Given the description of an element on the screen output the (x, y) to click on. 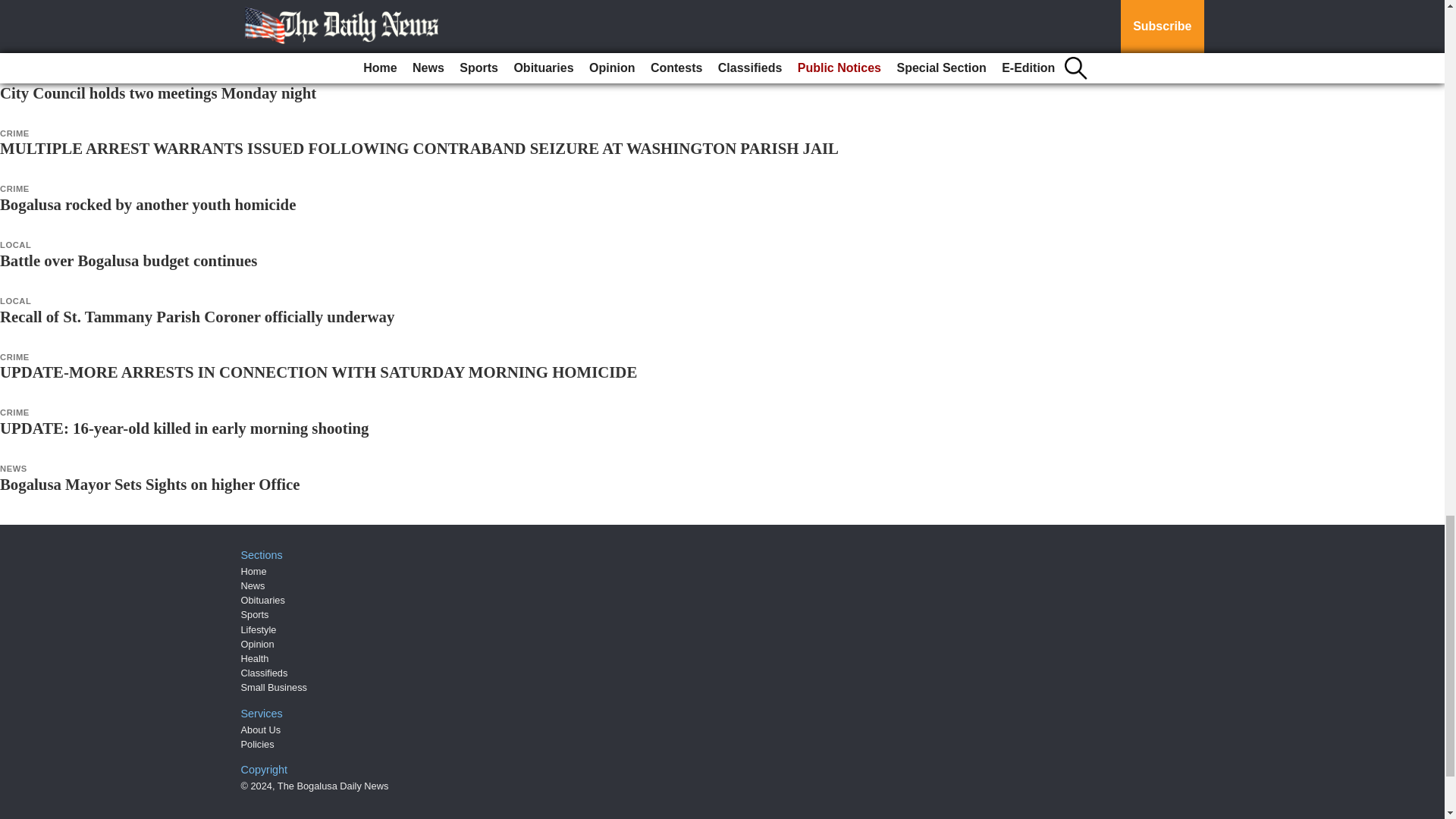
City Council holds two meetings Monday night (157, 92)
City Council holds two meetings Monday night (157, 92)
Team up to clean up this Saturday (115, 36)
Bogalusa rocked by another youth homicide (147, 203)
Bogalusa rocked by another youth homicide (147, 203)
Team up to clean up this Saturday (115, 36)
